Given the description of an element on the screen output the (x, y) to click on. 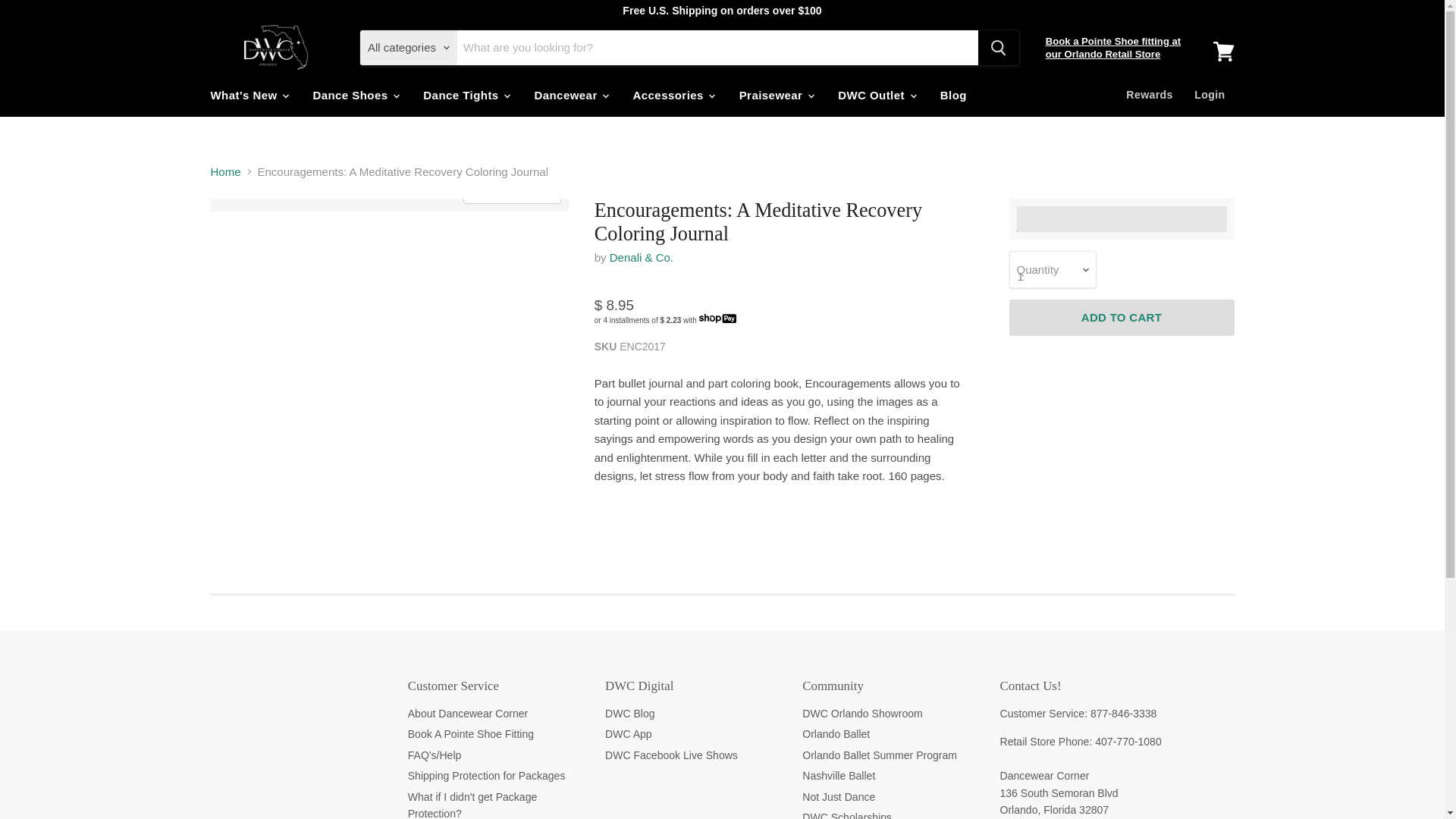
View cart (1223, 51)
Dance Shoes (355, 94)
What's New (248, 94)
Book a Pointe Shoe fitting at our Orlando Retail Store (1112, 47)
